Given the description of an element on the screen output the (x, y) to click on. 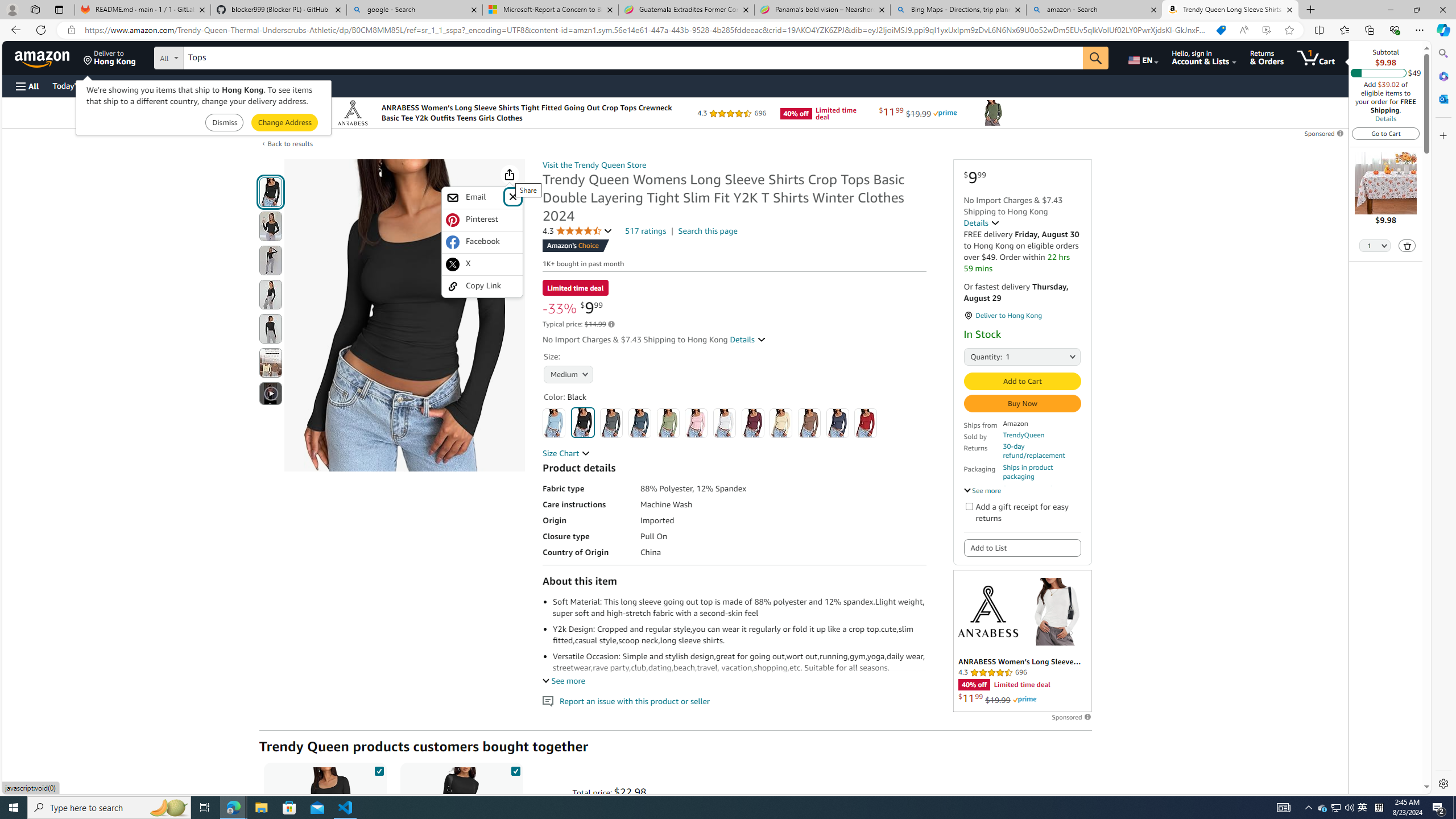
Returns & Orders (1266, 57)
Size Chart  (566, 452)
Share (509, 174)
Details (1385, 118)
Add a gift receipt for easy returns (968, 506)
Back to results (290, 143)
Email (482, 197)
Amazon (43, 57)
